Given the description of an element on the screen output the (x, y) to click on. 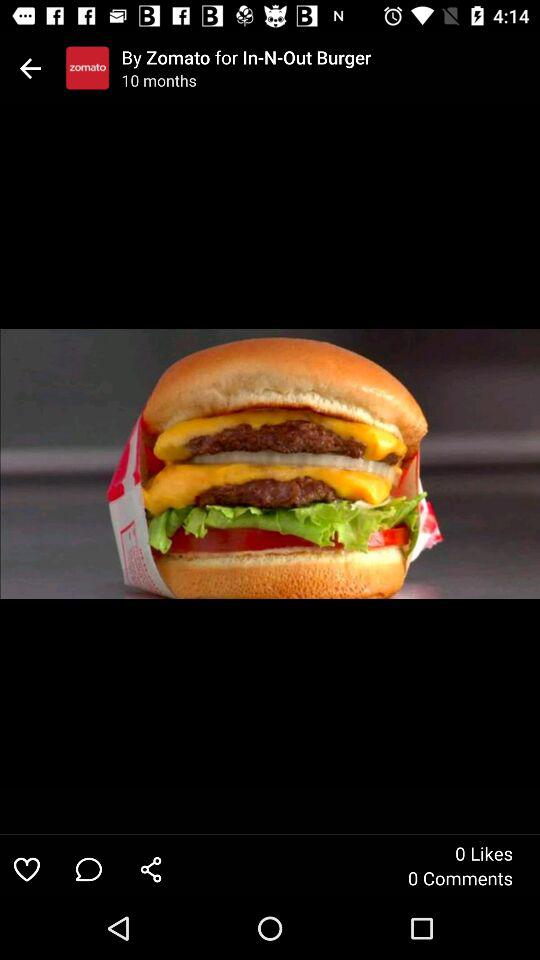
launch by zomato for item (330, 57)
